Given the description of an element on the screen output the (x, y) to click on. 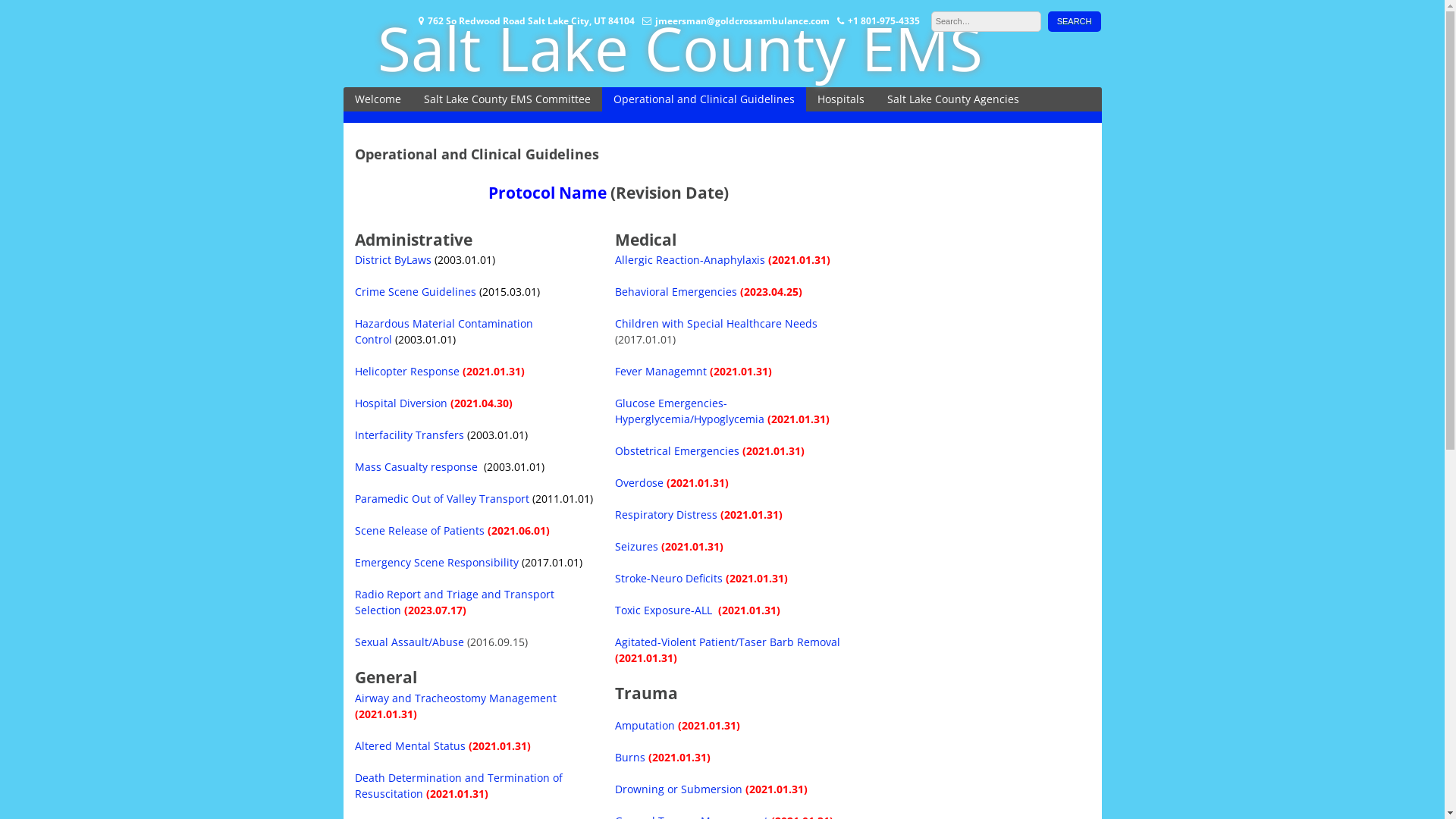
Respiratory Distress Element type: text (666, 514)
Stroke-Neuro Deficits Element type: text (668, 578)
Behavioral Emergencies Element type: text (676, 291)
Helicopter Response  Element type: text (408, 371)
Scene Release of Patients Element type: text (419, 530)
Seizures Element type: text (636, 546)
Welcome Element type: text (376, 99)
Emergency Scene Responsibility  Element type: text (437, 562)
Overdose Element type: text (639, 482)
Burns Element type: text (630, 756)
Death Determination and Termination of Resuscitation Element type: text (458, 785)
Paramedic Out of Valley Transport  Element type: text (443, 498)
Glucose Emergencies- Hyperglycemia/Hypoglycemia Element type: text (689, 410)
Radio Report and Triage and Transport Selection Element type: text (454, 601)
Altered Mental Status Element type: text (409, 745)
Hazardous Material Contamination Control Element type: text (443, 331)
Salt Lake County EMS Element type: text (679, 47)
Amputation Element type: text (644, 724)
Mass Casualty response Element type: text (415, 466)
Toxic Exposure-ALL  Element type: text (665, 609)
Operational and Clinical Guidelines Element type: text (704, 99)
Agitated-Violent Patient/Taser Barb Removal Element type: text (727, 641)
Obstetrical Emergencies Element type: text (677, 450)
Hospital Diversion Element type: text (400, 402)
Airway and Tracheostomy Management Element type: text (455, 697)
Salt Lake County EMS Committee Element type: text (507, 99)
Search Element type: hover (1074, 21)
Allergic Reaction-Anaphylaxis Element type: text (691, 259)
Search for: Element type: hover (986, 21)
Search Element type: text (1074, 21)
Interfacility Transfers Element type: text (409, 434)
Crime Scene Guidelines Element type: text (415, 291)
Fever Managemnt Element type: text (660, 371)
Hospitals Element type: text (840, 99)
Drowning or Submersion Element type: text (678, 788)
Salt Lake County Agencies Element type: text (952, 99)
District ByLaws Element type: text (392, 259)
Children with Special Healthcare Needs Element type: text (716, 323)
Sexual Assault/Abuse Element type: text (409, 641)
